Given the description of an element on the screen output the (x, y) to click on. 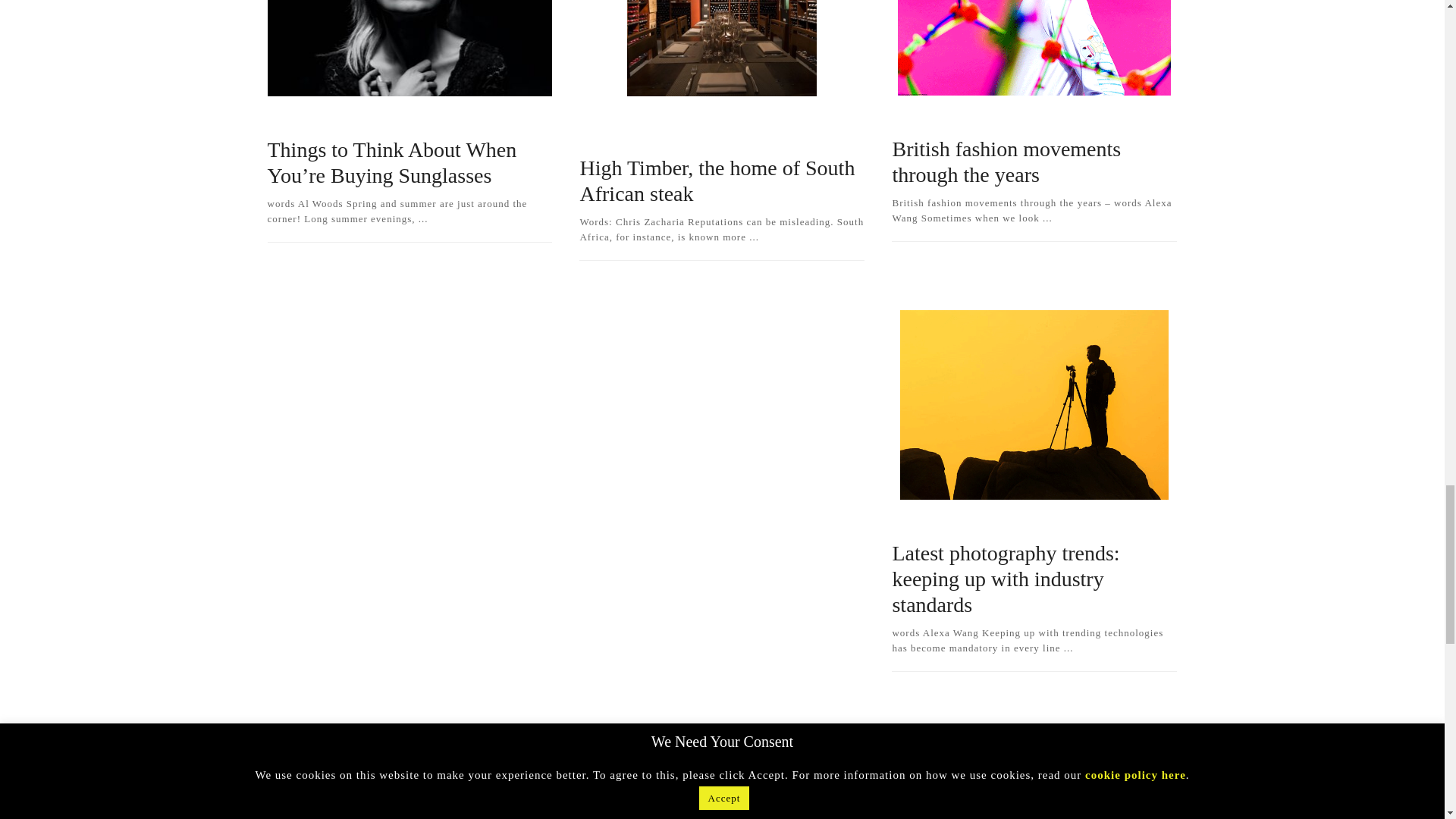
View all posts in 1599 (641, 137)
View all posts in 1 (748, 137)
View all posts in 1516 (595, 119)
View all posts in 2493 (652, 119)
View all posts in 1431 (919, 118)
View all posts in 1853 (377, 119)
View all posts in 1431 (293, 119)
View all posts in 606 (732, 119)
